Given the description of an element on the screen output the (x, y) to click on. 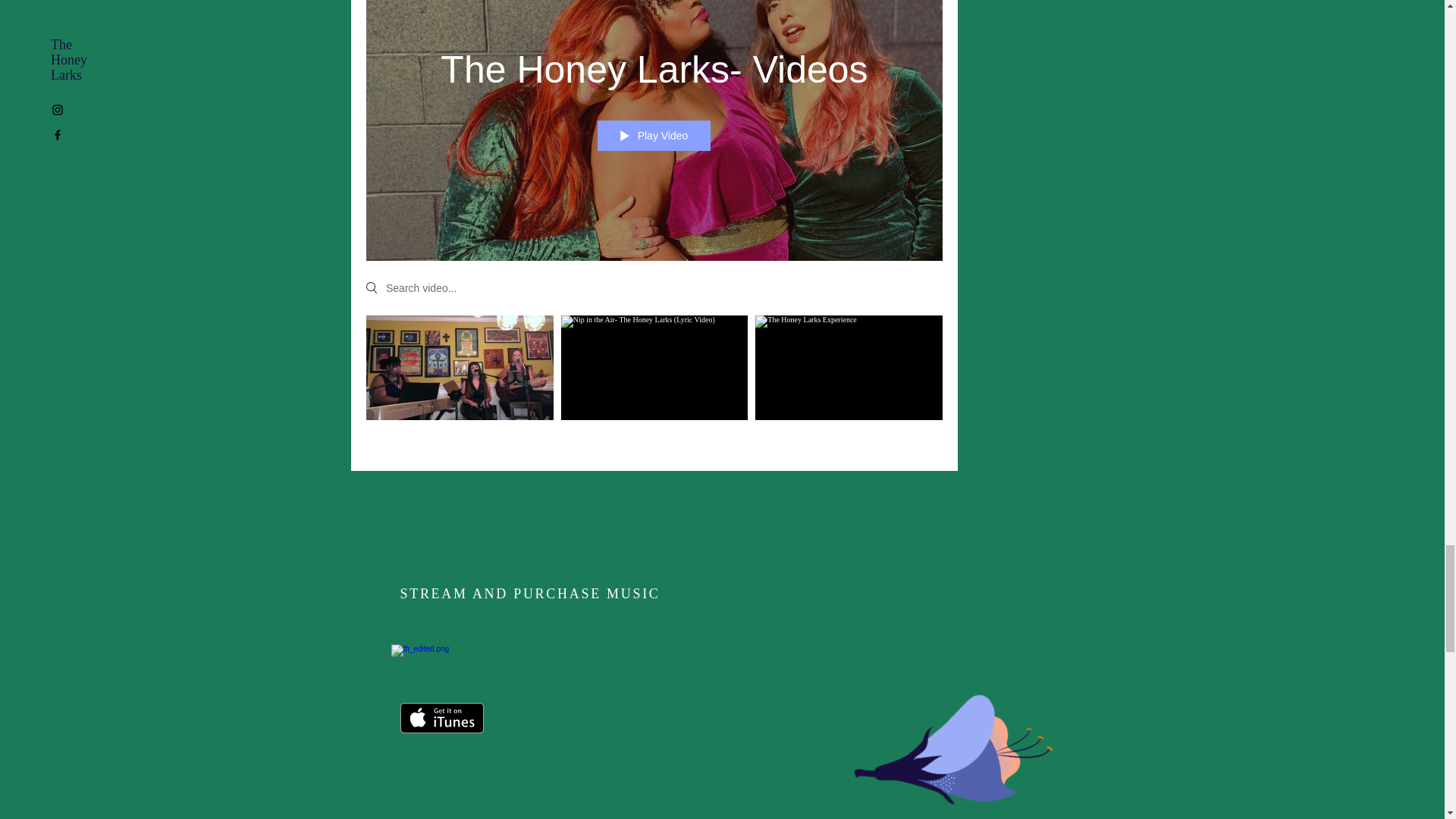
Play Video (653, 135)
The Honey Larks- Videos (653, 69)
Get it on iTunes (441, 717)
